Given the description of an element on the screen output the (x, y) to click on. 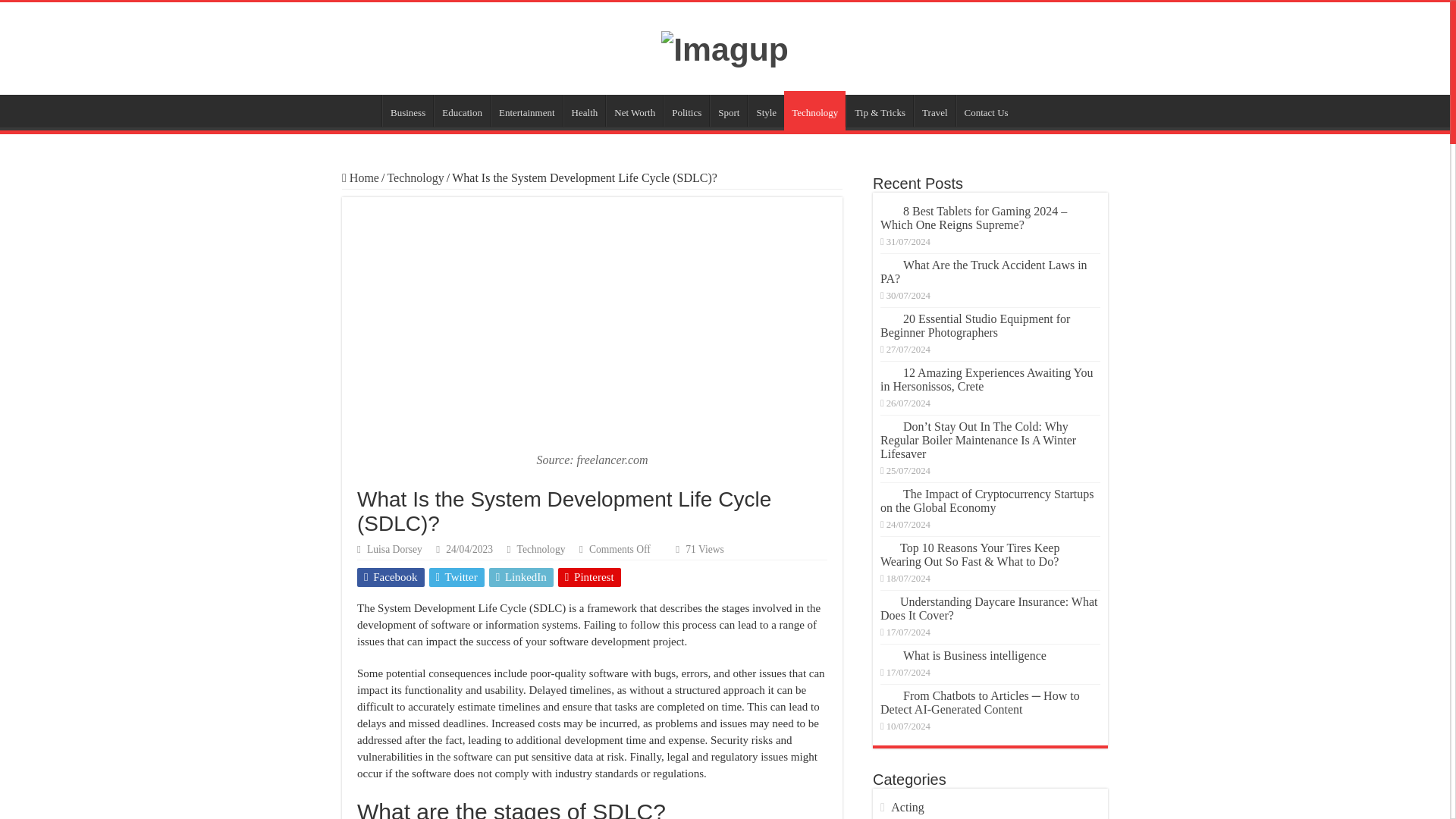
Pinterest (589, 613)
Sport (728, 146)
Home (360, 214)
LinkedIn (521, 613)
Entertainment (526, 146)
Imagup (724, 63)
Travel (934, 146)
Education (461, 146)
Contact Us (986, 146)
Health (584, 146)
